Given the description of an element on the screen output the (x, y) to click on. 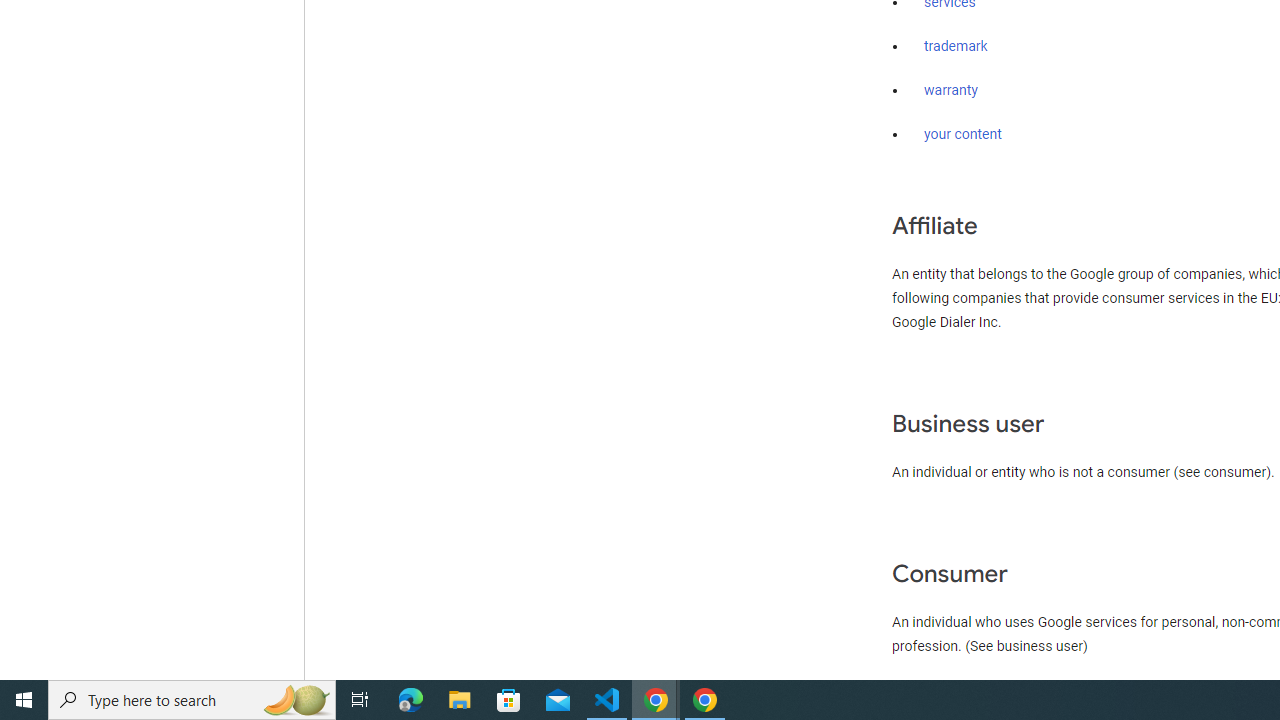
trademark (956, 47)
warranty (950, 91)
your content (963, 134)
